Given the description of an element on the screen output the (x, y) to click on. 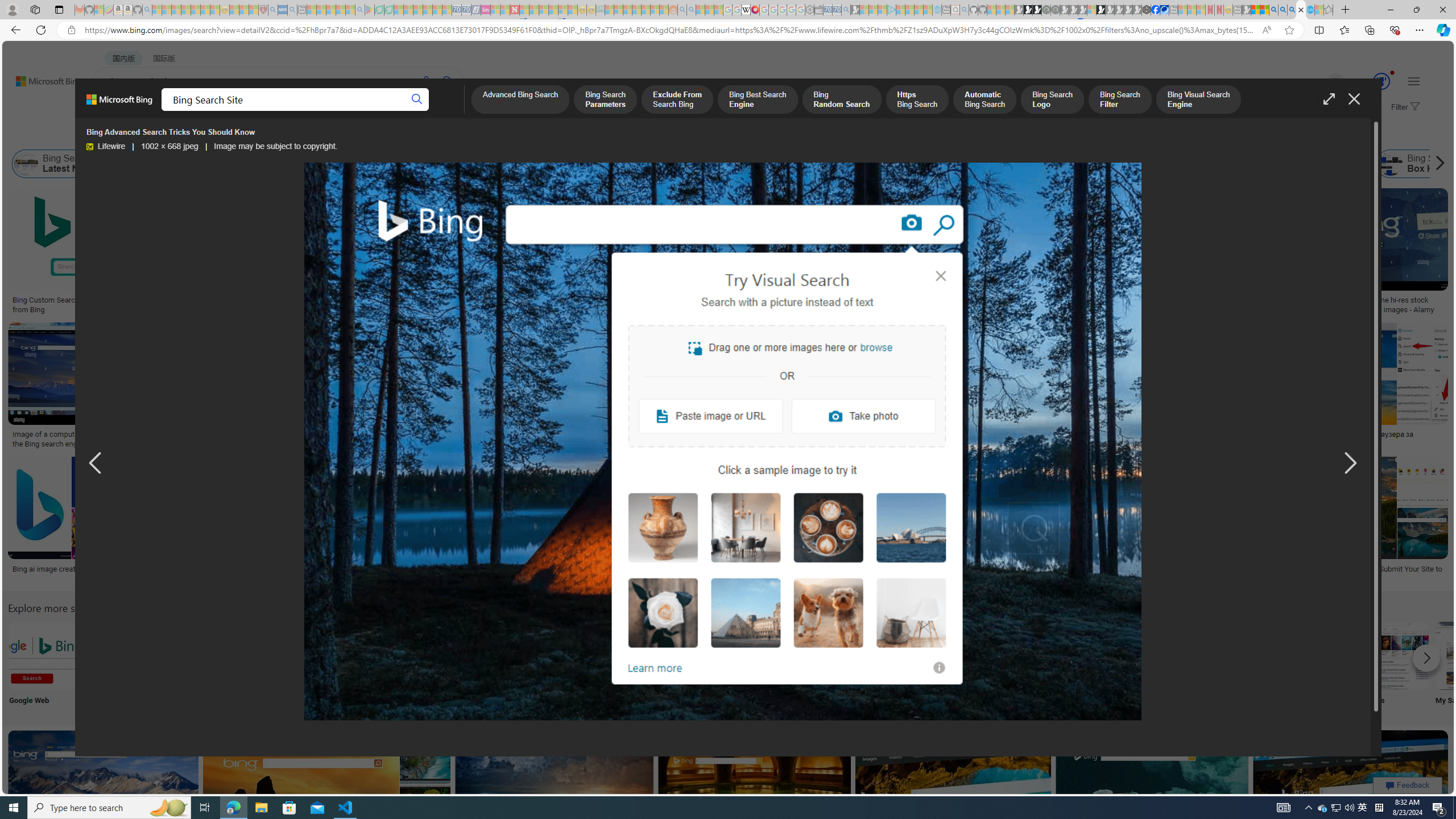
Bing Searches Today (249, 163)
" Bing " search engine web page Stock Photo - Alamy (775, 438)
ACADEMIC (360, 111)
Layout (252, 135)
Who Made Bing Search Engine (974, 163)
Bing Search Tricks Tricks (1319, 665)
Date (336, 135)
Bing Search Terms (615, 163)
Image size (126, 135)
